Given the description of an element on the screen output the (x, y) to click on. 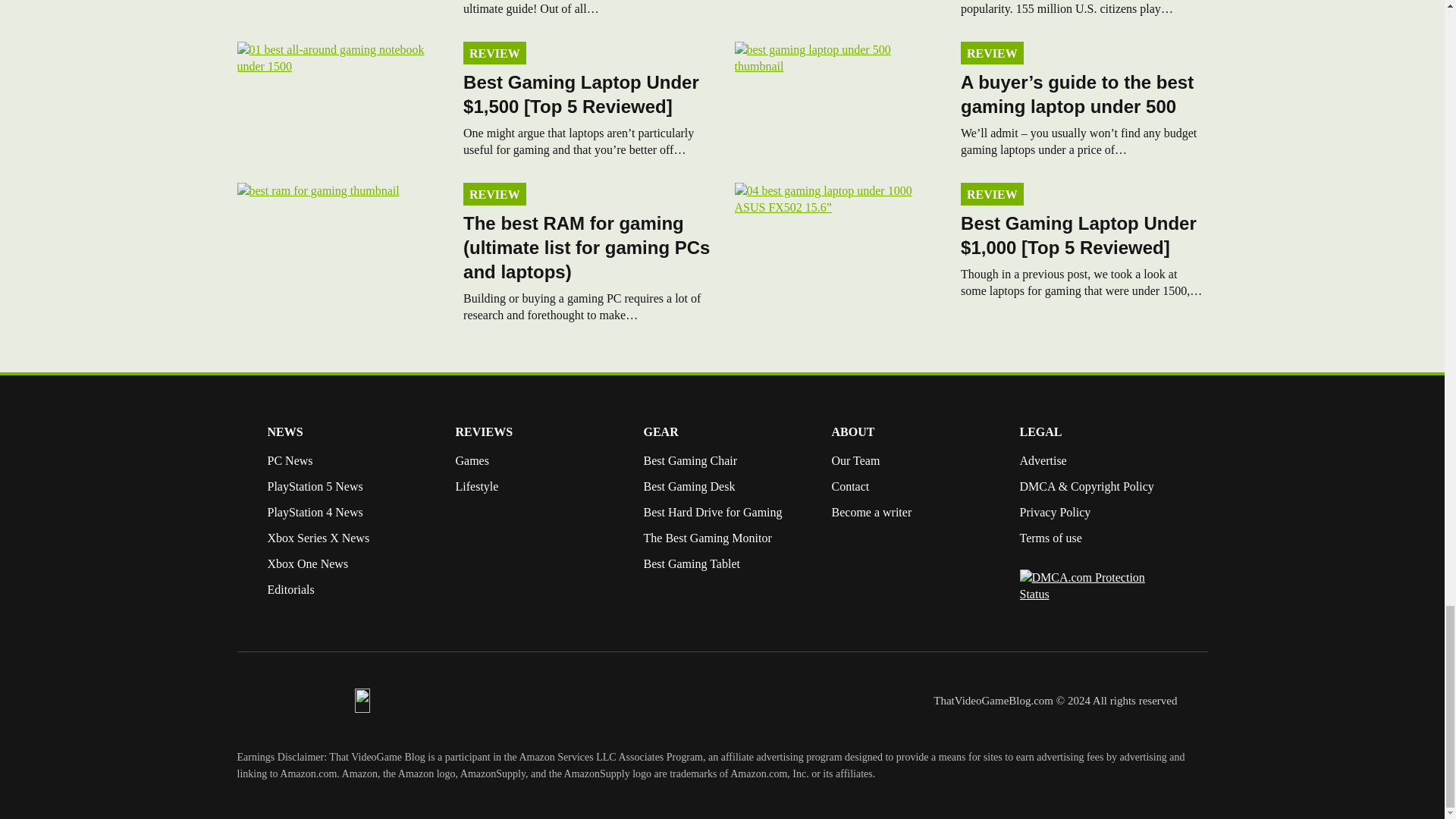
DMCA.com Protection Program (1097, 594)
